Given the description of an element on the screen output the (x, y) to click on. 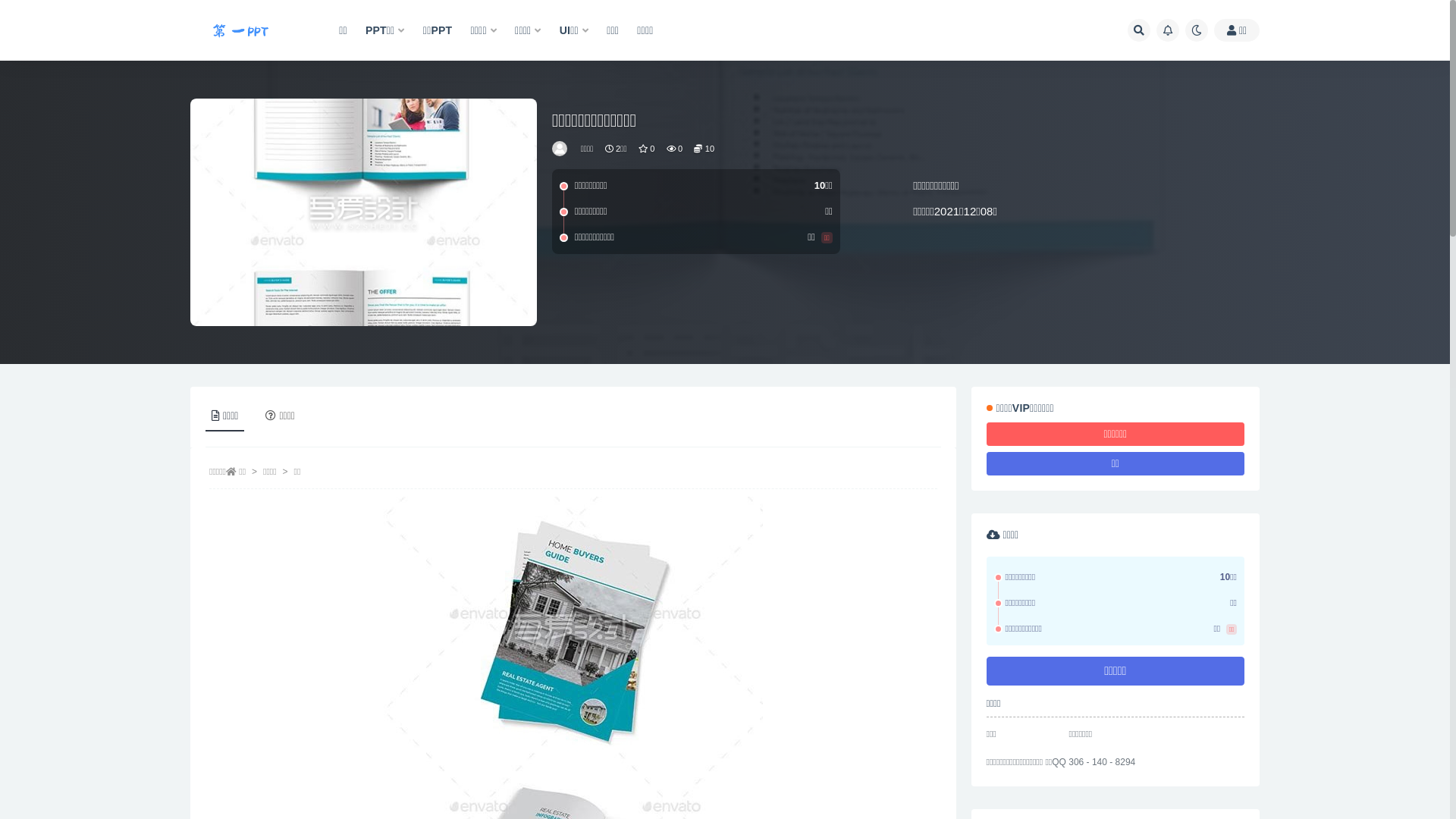
1ppt Element type: hover (560, 148)
